Given the description of an element on the screen output the (x, y) to click on. 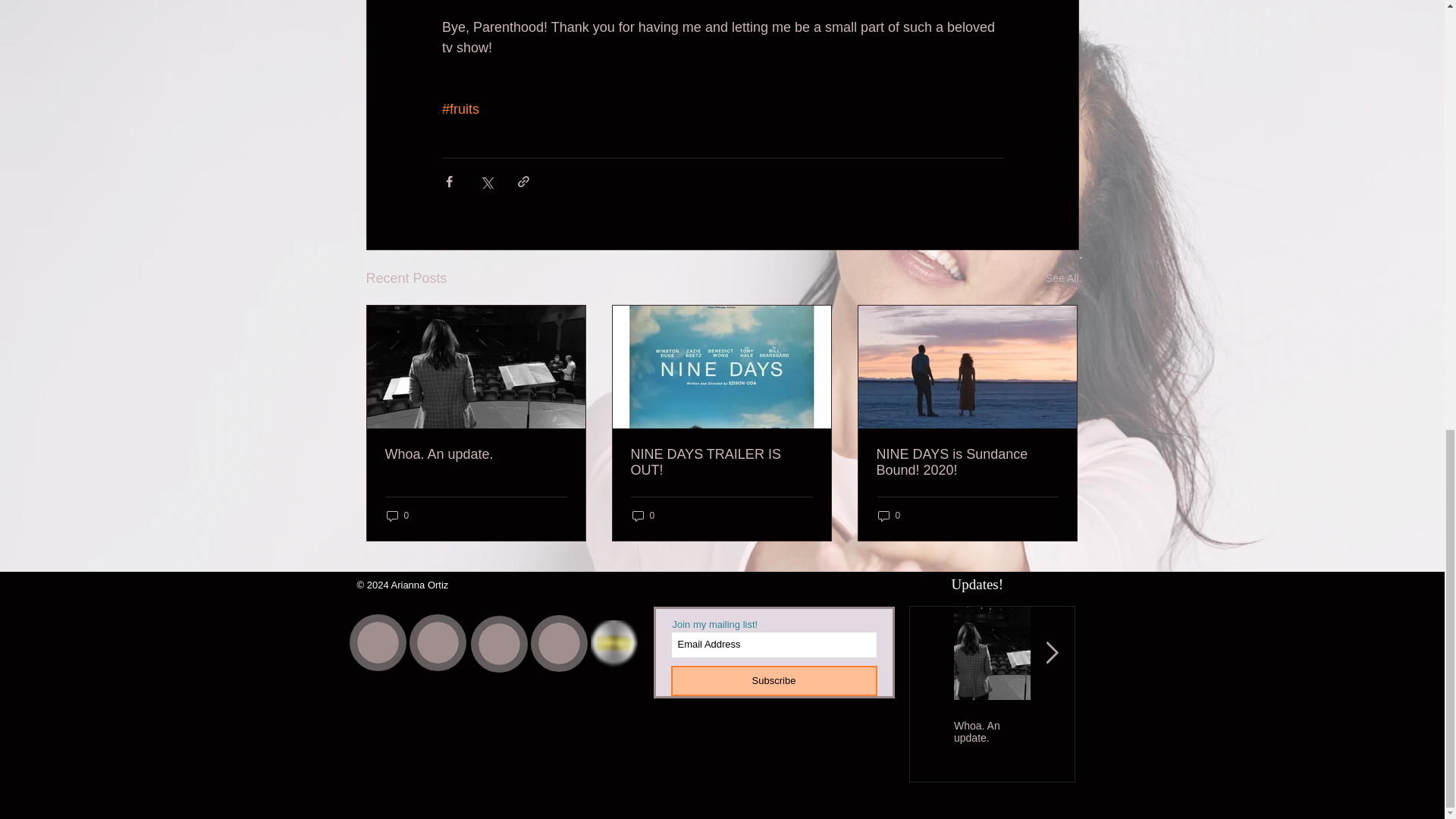
0 (643, 514)
NINE DAYS TRAILER IS OUT! (1067, 737)
Whoa. An update. (476, 454)
NINE DAYS is Sundance Bound! 2020! (967, 462)
Subscribe (772, 680)
0 (397, 514)
NINE DAYS TRAILER IS OUT! (721, 462)
Whoa. An update. (991, 731)
See All (1061, 278)
0 (889, 514)
